Given the description of an element on the screen output the (x, y) to click on. 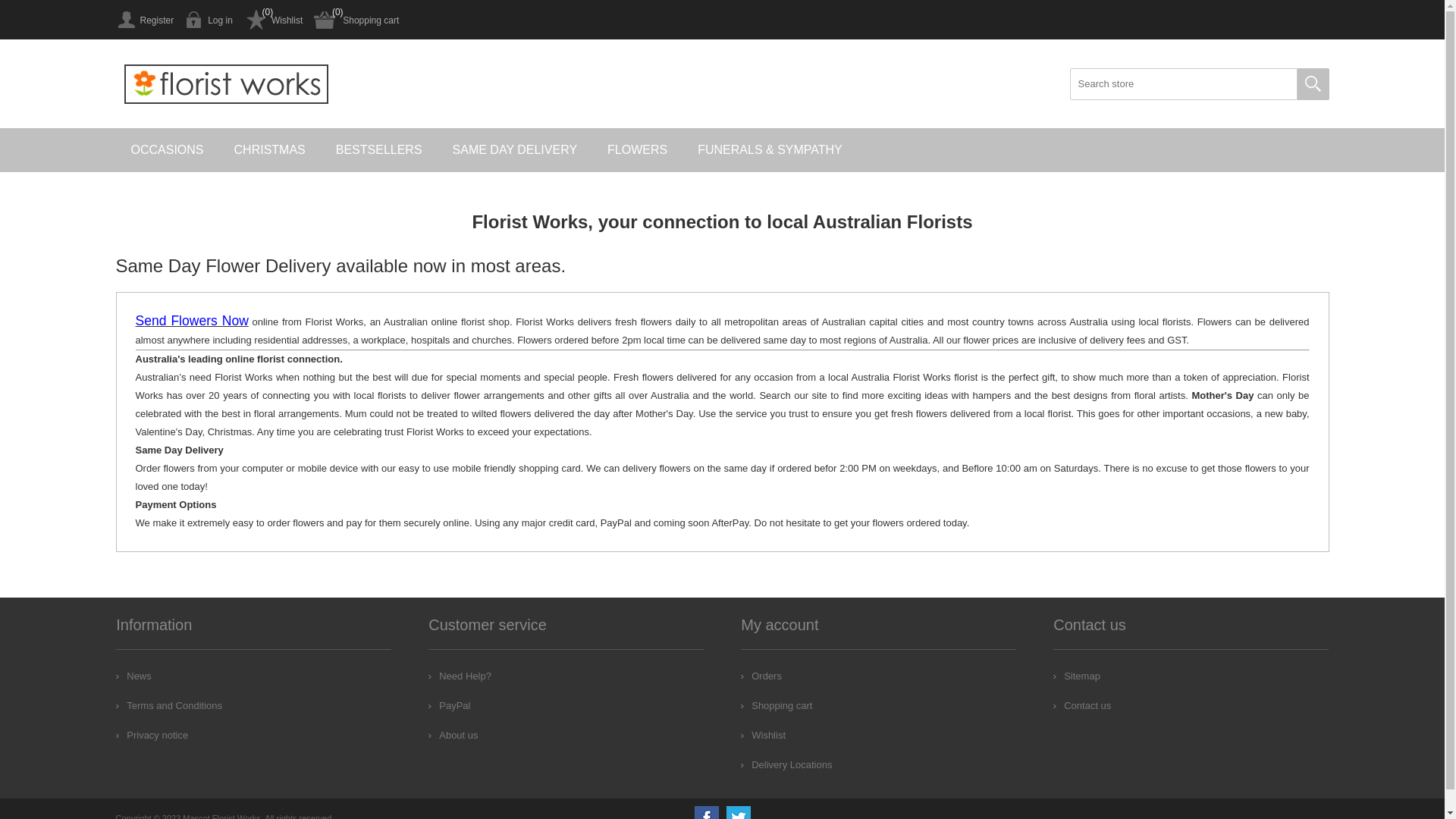
Sitemap Element type: text (1076, 675)
Wishlist Element type: text (273, 19)
FUNERALS & SYMPATHY Element type: text (769, 150)
Log in Element type: text (208, 19)
Contact us Element type: text (1081, 705)
Need Help? Element type: text (459, 675)
Wishlist Element type: text (762, 734)
Orders Element type: text (760, 675)
SAME DAY DELIVERY Element type: text (515, 150)
CHRISTMAS Element type: text (269, 150)
Register Element type: text (144, 19)
Privacy notice Element type: text (152, 734)
Search Element type: text (1312, 84)
BESTSELLERS Element type: text (378, 150)
News Element type: text (133, 675)
Shopping cart Element type: text (355, 19)
Send Flowers Now Element type: text (190, 321)
Terms and Conditions Element type: text (169, 705)
OCCASIONS Element type: text (166, 150)
Shopping cart Element type: text (776, 705)
Delivery Locations Element type: text (785, 764)
PayPal Element type: text (449, 705)
FLOWERS Element type: text (637, 150)
About us Element type: text (452, 734)
